Given the description of an element on the screen output the (x, y) to click on. 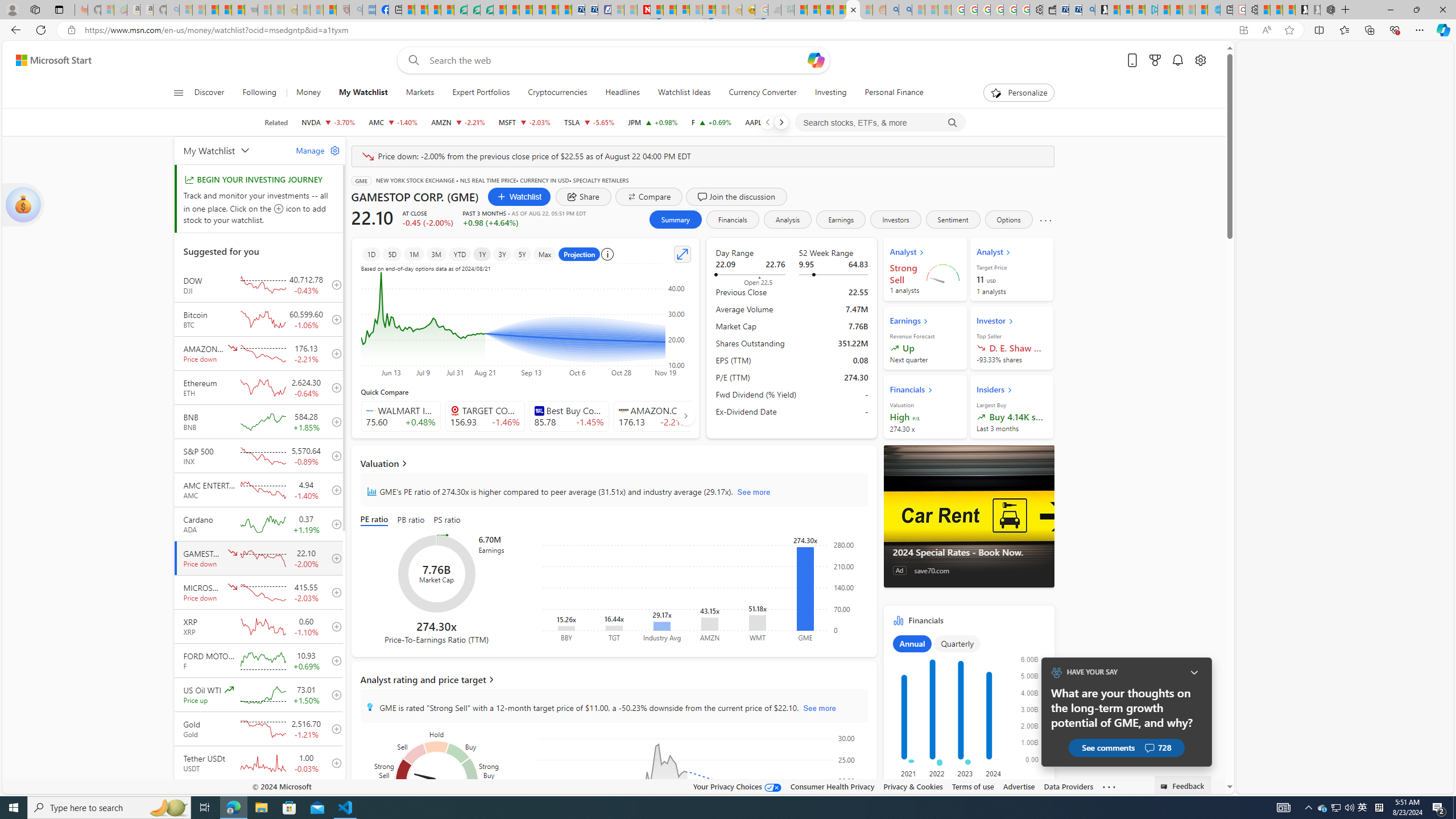
Max (544, 254)
Options (1008, 219)
Class: oneFooter_seeMore-DS-EntryPoint1-1 (1108, 786)
